Given the description of an element on the screen output the (x, y) to click on. 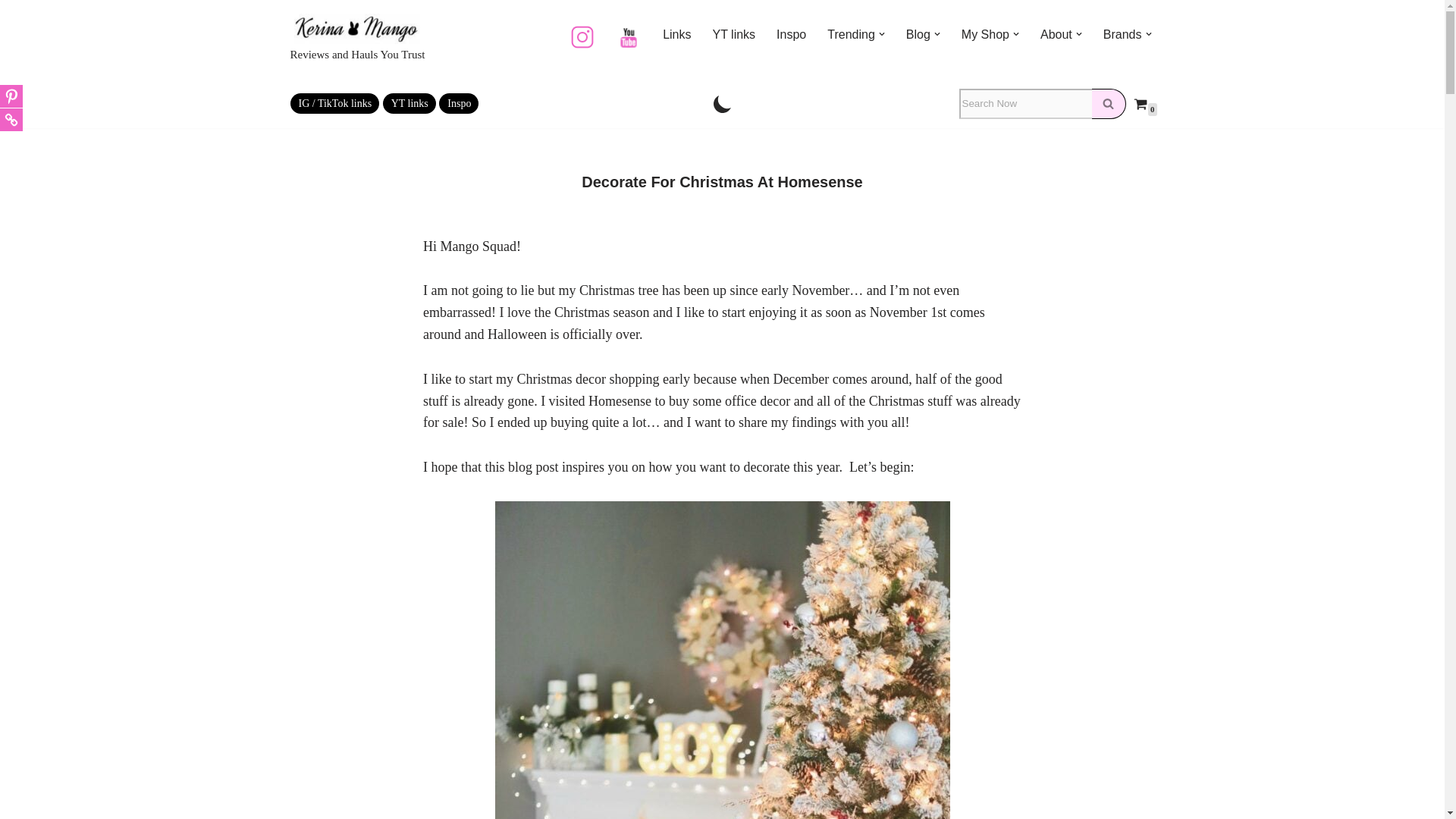
Inspo (791, 34)
Brands (1122, 34)
Kerina Wang icons8-youtube-32 (628, 37)
My Shop (984, 34)
Pinterest (11, 96)
YT links (734, 34)
Trending (851, 34)
Reviews and Hauls You Trust (357, 39)
Kerina Wang kerina wang instagram logo (582, 37)
Skip to content (11, 31)
